Given the description of an element on the screen output the (x, y) to click on. 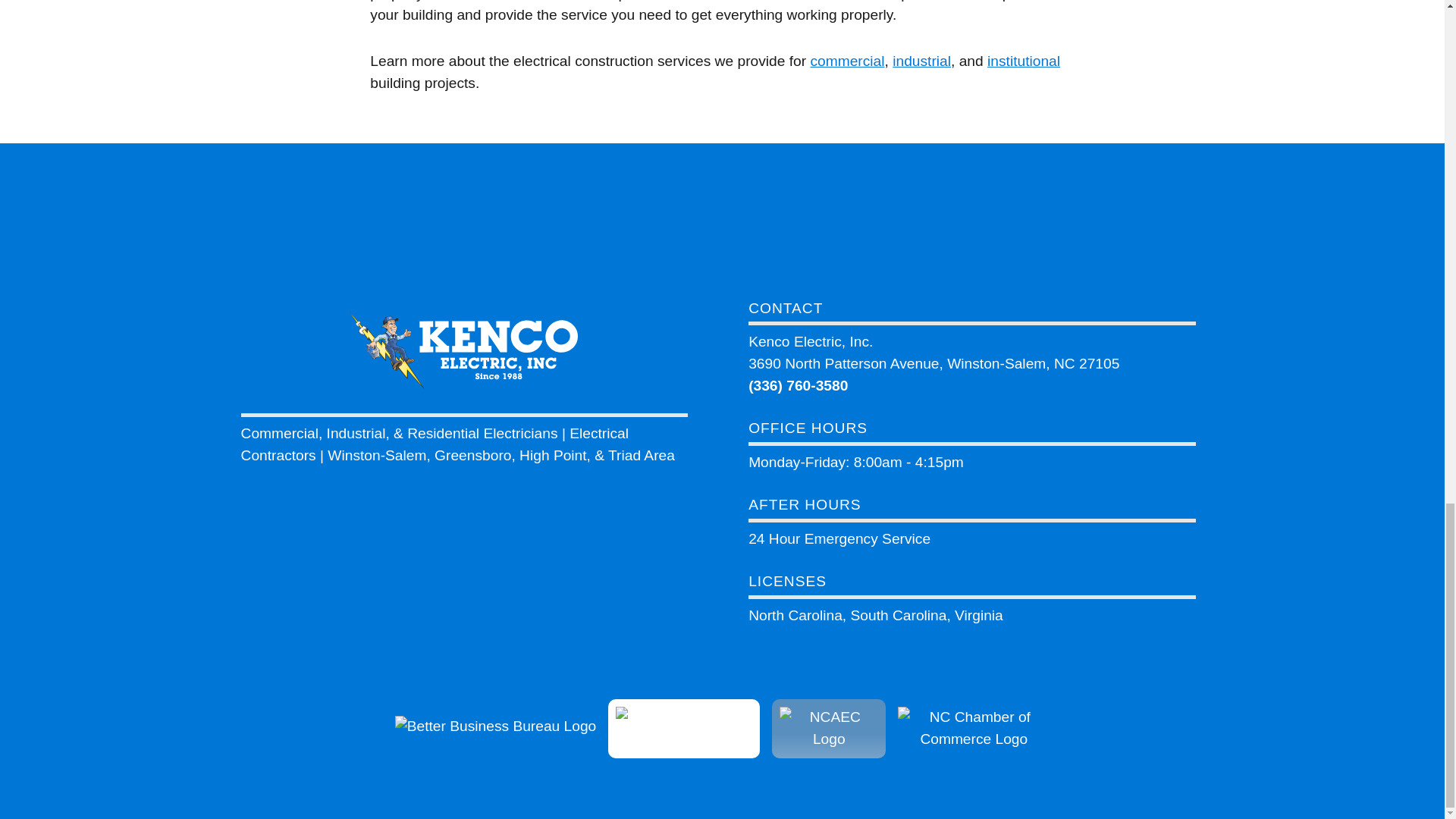
industrial (921, 61)
institutional (1023, 61)
commercial (846, 61)
